Given the description of an element on the screen output the (x, y) to click on. 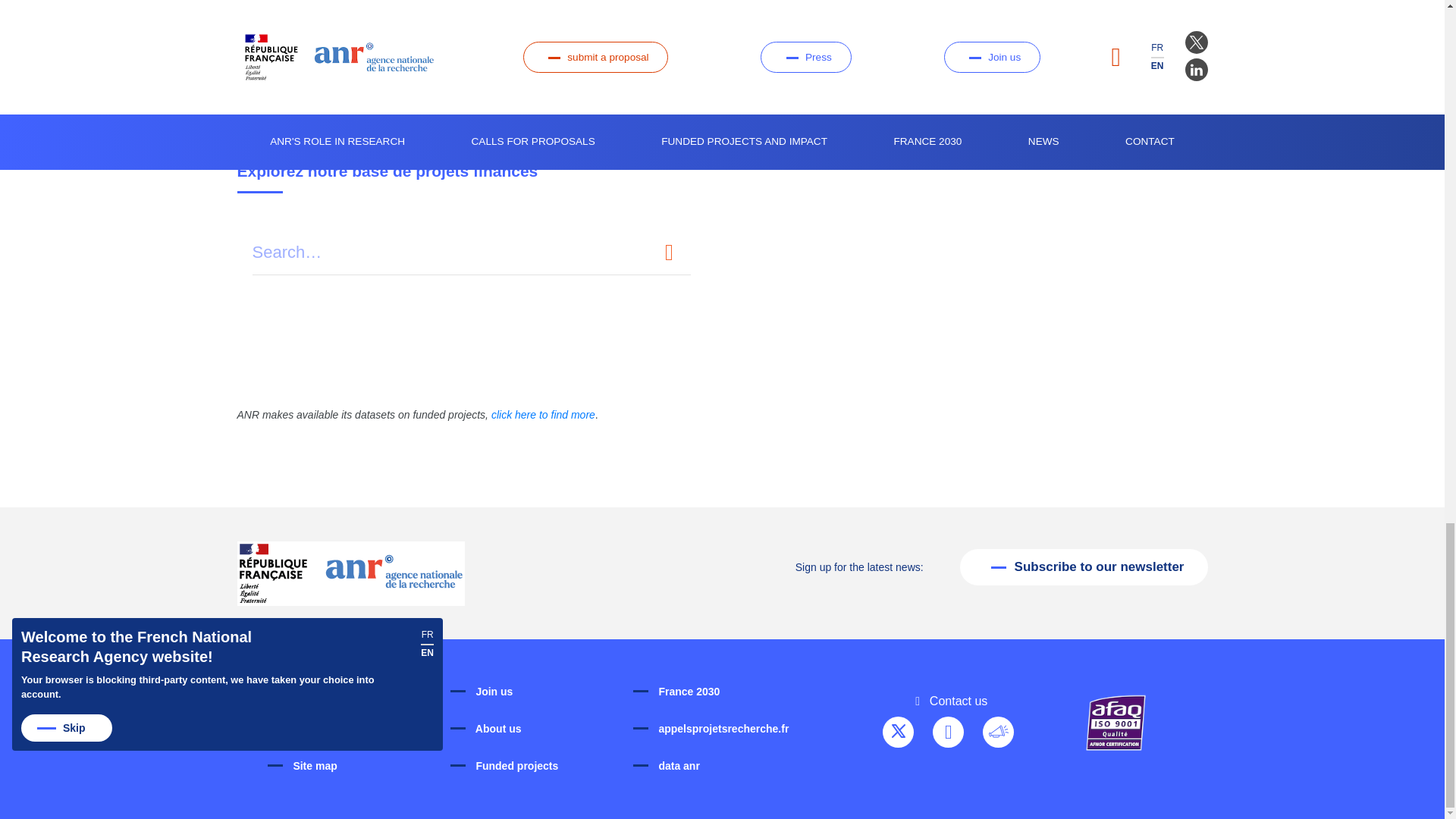
ANR on LinkedIn (948, 731)
RSS Feeds (997, 731)
